Given the description of an element on the screen output the (x, y) to click on. 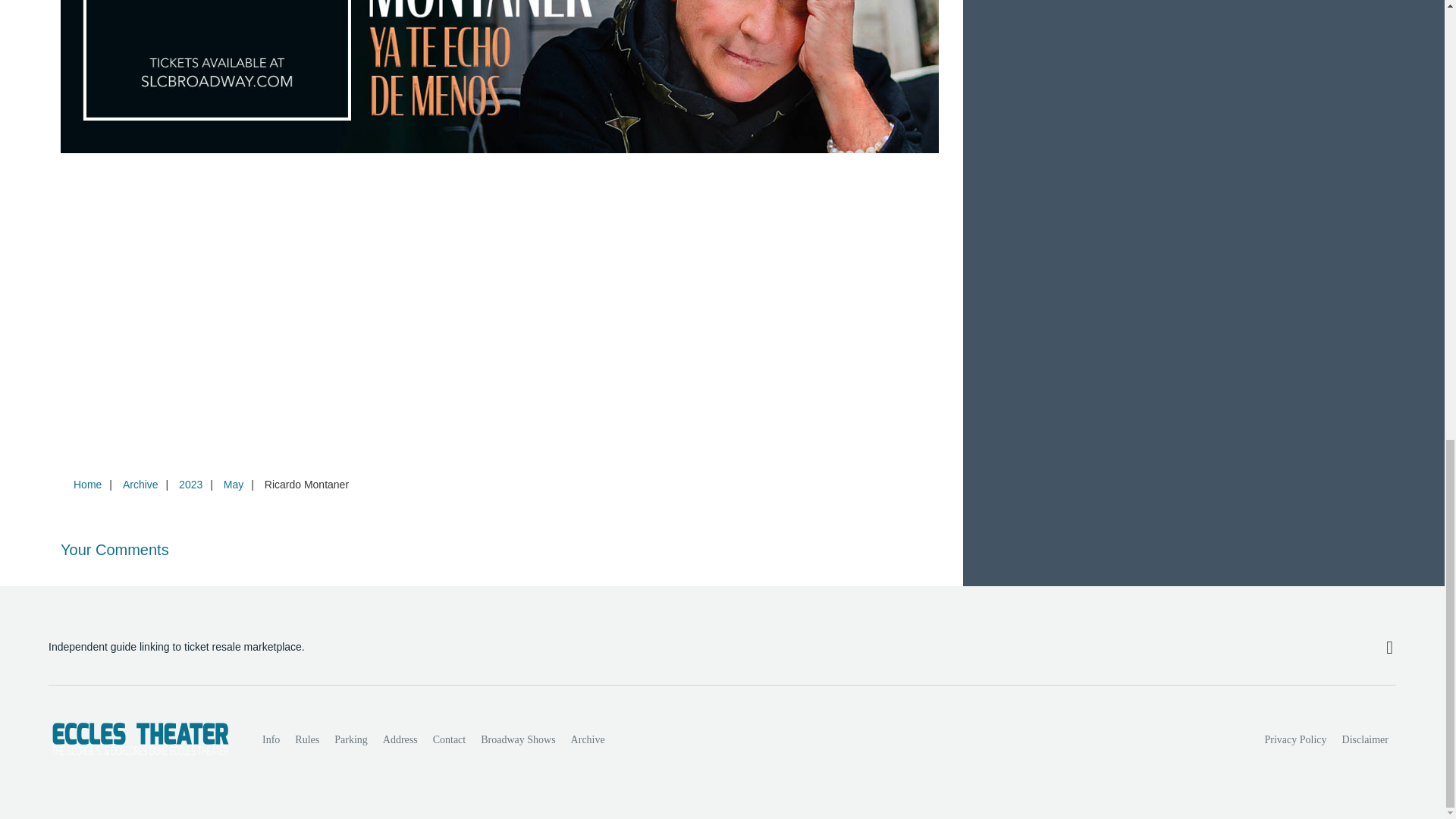
Home (87, 484)
2023 (190, 484)
Parking (350, 739)
Info (270, 739)
Contact (449, 739)
Archive (587, 739)
May (232, 484)
Disclaimer (1365, 739)
Privacy Policy (1296, 739)
Broadway Shows (517, 739)
Archive (140, 484)
Address (400, 739)
Rules (306, 739)
